Given the description of an element on the screen output the (x, y) to click on. 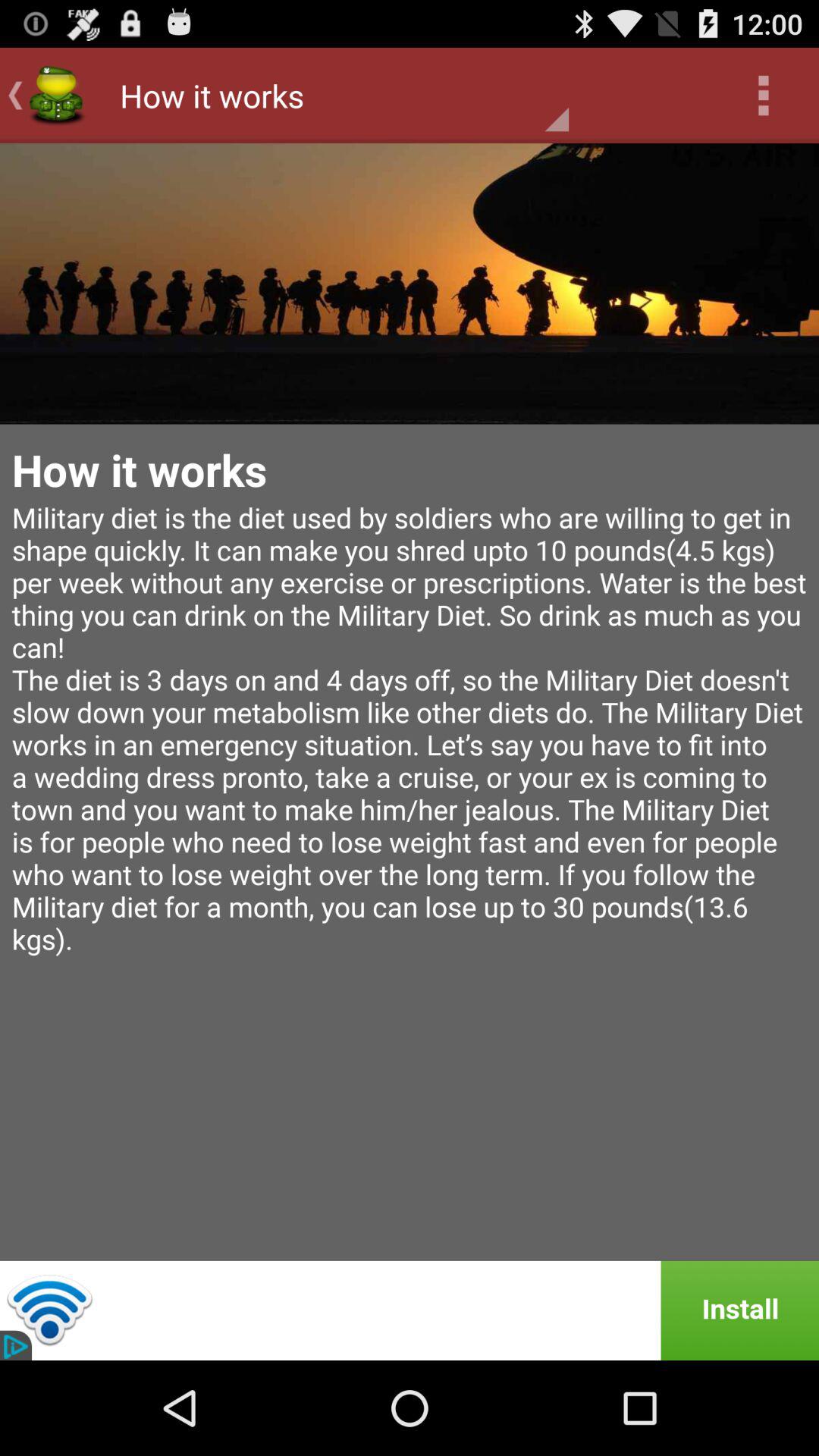
click to wifi install (409, 1310)
